Given the description of an element on the screen output the (x, y) to click on. 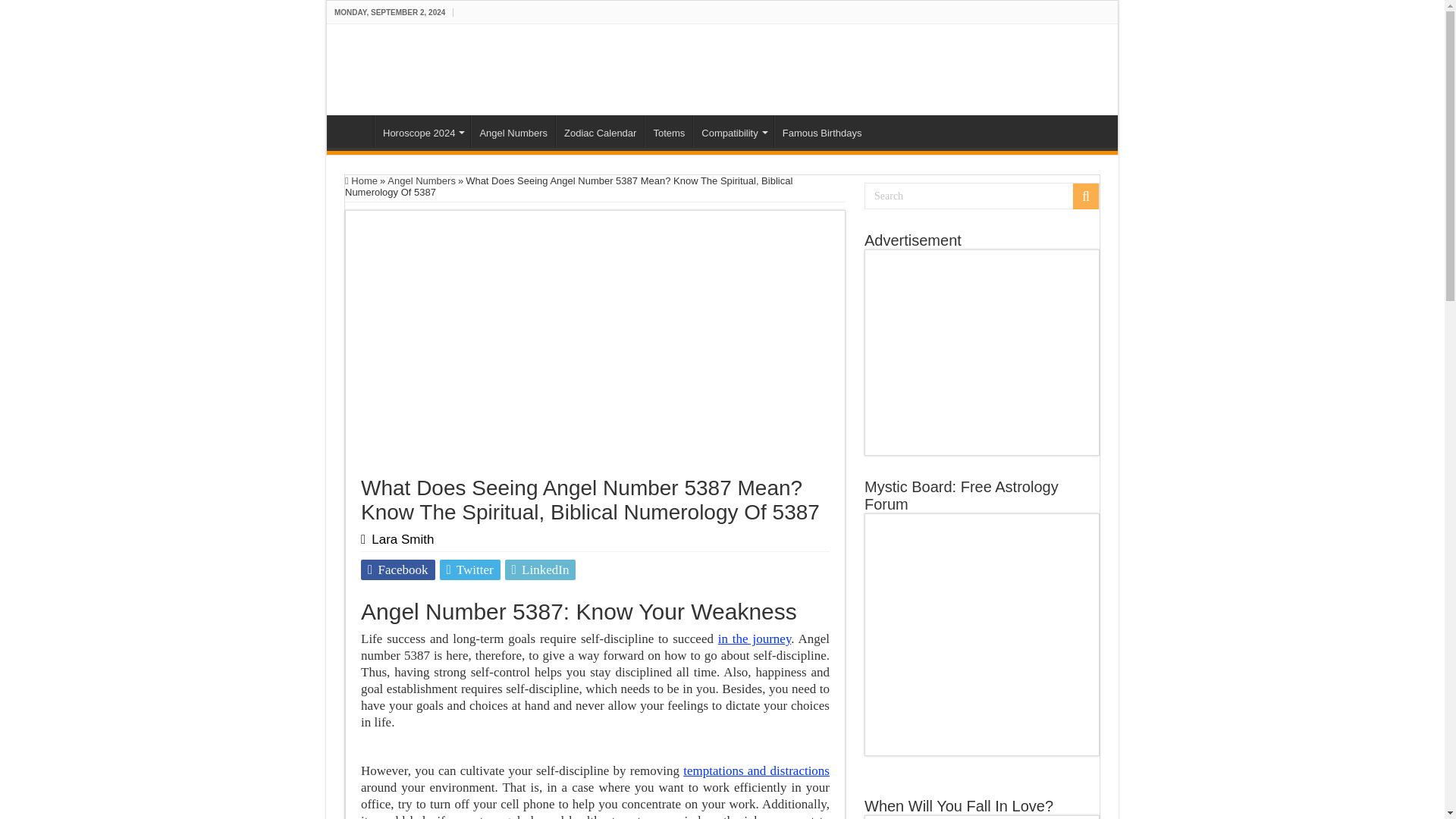
Horoscope 2024 (422, 131)
Angel Numbers (512, 131)
Compatibility (733, 131)
Lara Smith (402, 539)
Horoscope 2024 (422, 131)
Compatibility (733, 131)
Famous Birthdays (821, 131)
Facebook (398, 569)
Totems (669, 131)
Angel Numbers (512, 131)
